Given the description of an element on the screen output the (x, y) to click on. 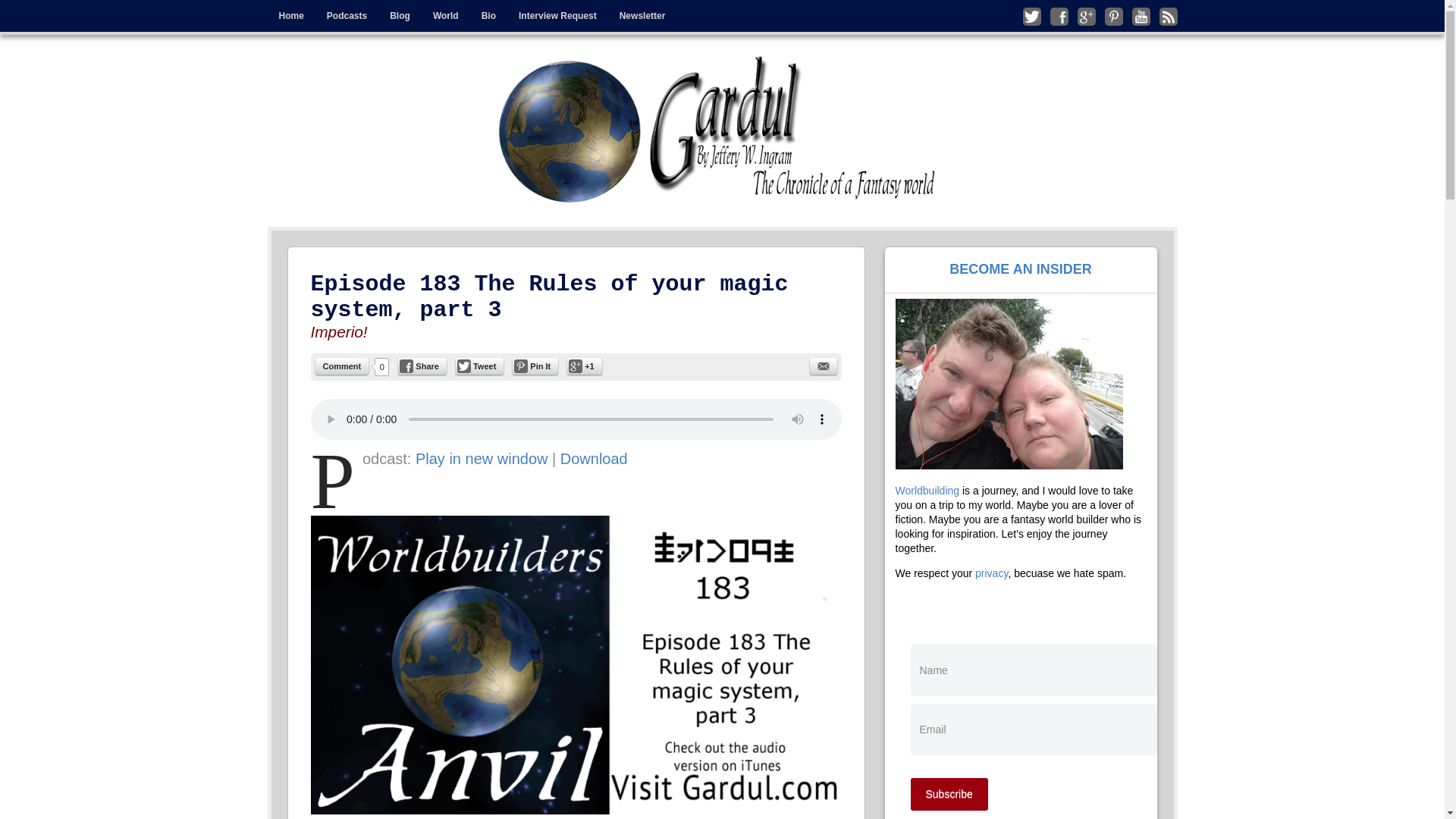
Share (421, 365)
Play in new window (481, 458)
Follow me on Pinterest (1112, 16)
Gardul (328, 67)
Comment (342, 365)
Home (290, 15)
Share on Facebook (421, 365)
Podcasts (346, 15)
Follow me on Twitter (1031, 16)
Bio (488, 15)
